Given the description of an element on the screen output the (x, y) to click on. 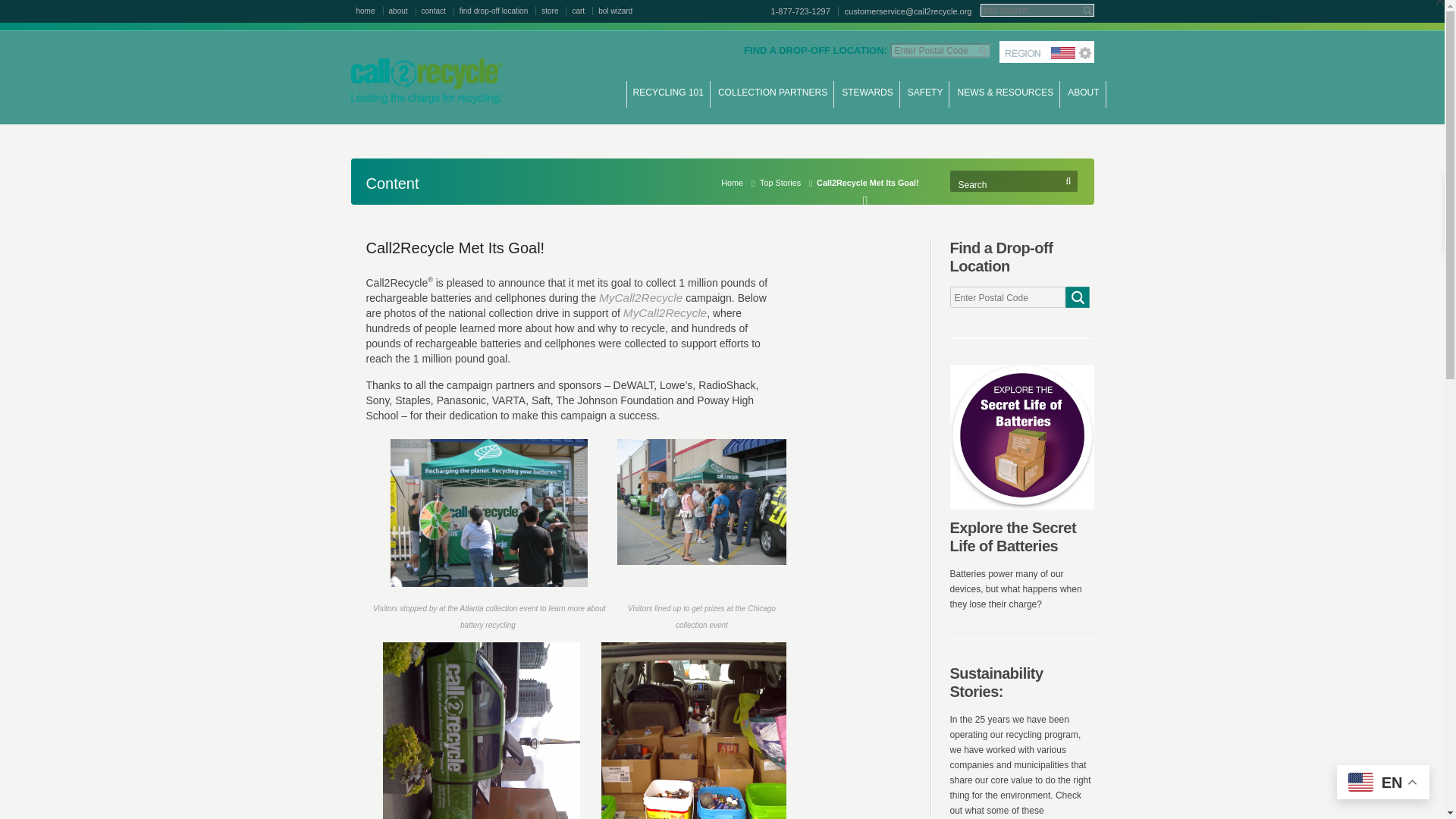
find drop-off location (497, 10)
COLLECTION PARTNERS (772, 100)
Search (1003, 184)
store (553, 10)
home (370, 10)
STEWARDS (867, 100)
1-877-723-1297 (801, 10)
cart (582, 10)
contact (438, 10)
Call2Recycle Met Its Goal! (454, 247)
